Given the description of an element on the screen output the (x, y) to click on. 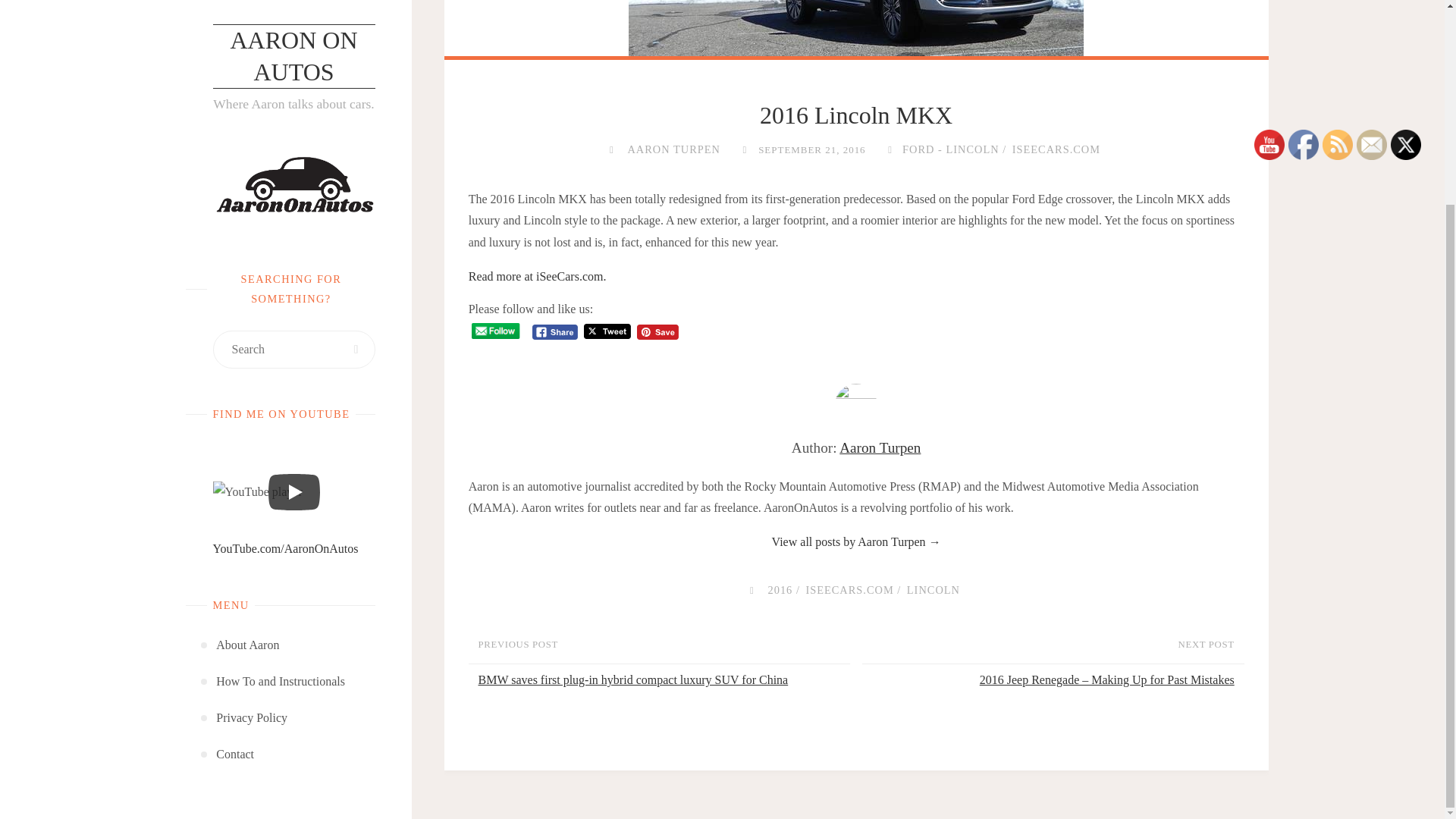
Facebook Share (555, 332)
About Aaron (247, 382)
How To and Instructionals (280, 419)
2016 Lincoln MKX (856, 33)
Tagged (751, 589)
LINCOLN (931, 589)
Search (355, 86)
Date (743, 149)
Verbosa WordPress Theme by Cryout Creations (283, 568)
BMW saves first plug-in hybrid compact luxury SUV for China (662, 680)
